Given the description of an element on the screen output the (x, y) to click on. 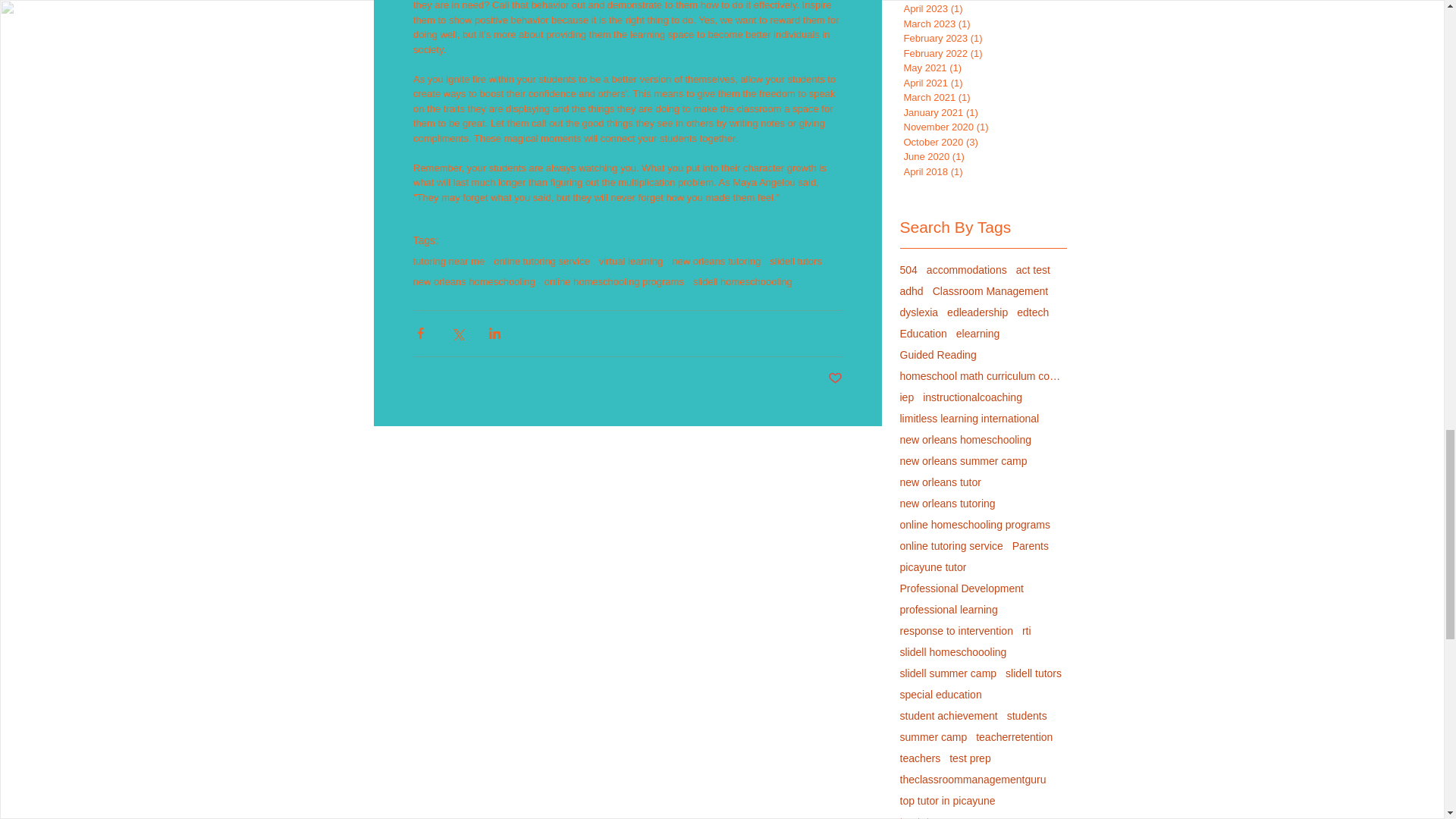
new orleans homeschooling (473, 281)
new orleans tutoring (715, 260)
virtual learning (630, 260)
slidell homeschoooling (742, 281)
tutoring near me (448, 260)
online homeschooling programs (614, 281)
slidell tutors (796, 260)
online tutoring service (541, 260)
Post not marked as liked (835, 378)
